Given the description of an element on the screen output the (x, y) to click on. 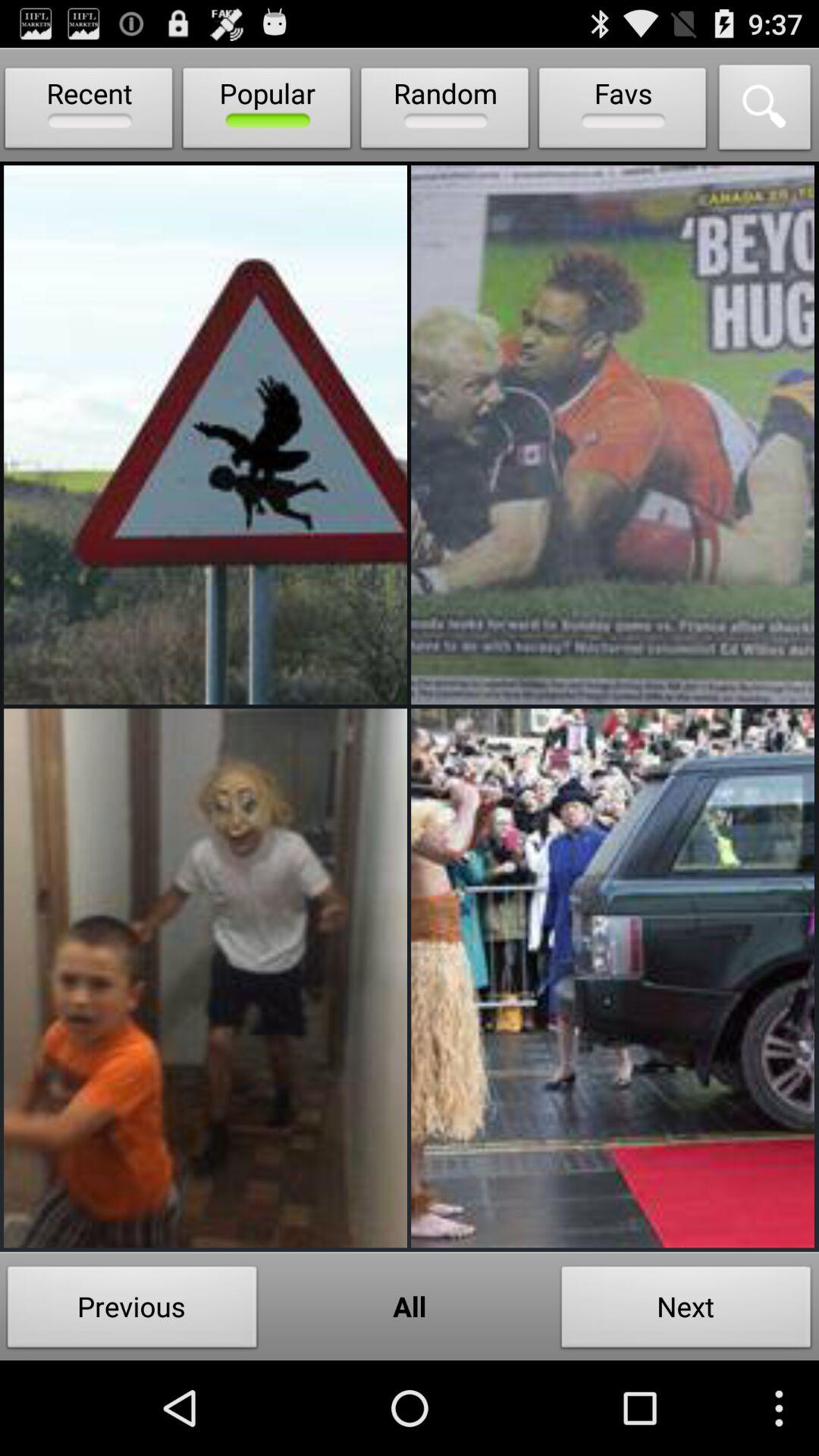
click icon next to favs item (765, 111)
